Given the description of an element on the screen output the (x, y) to click on. 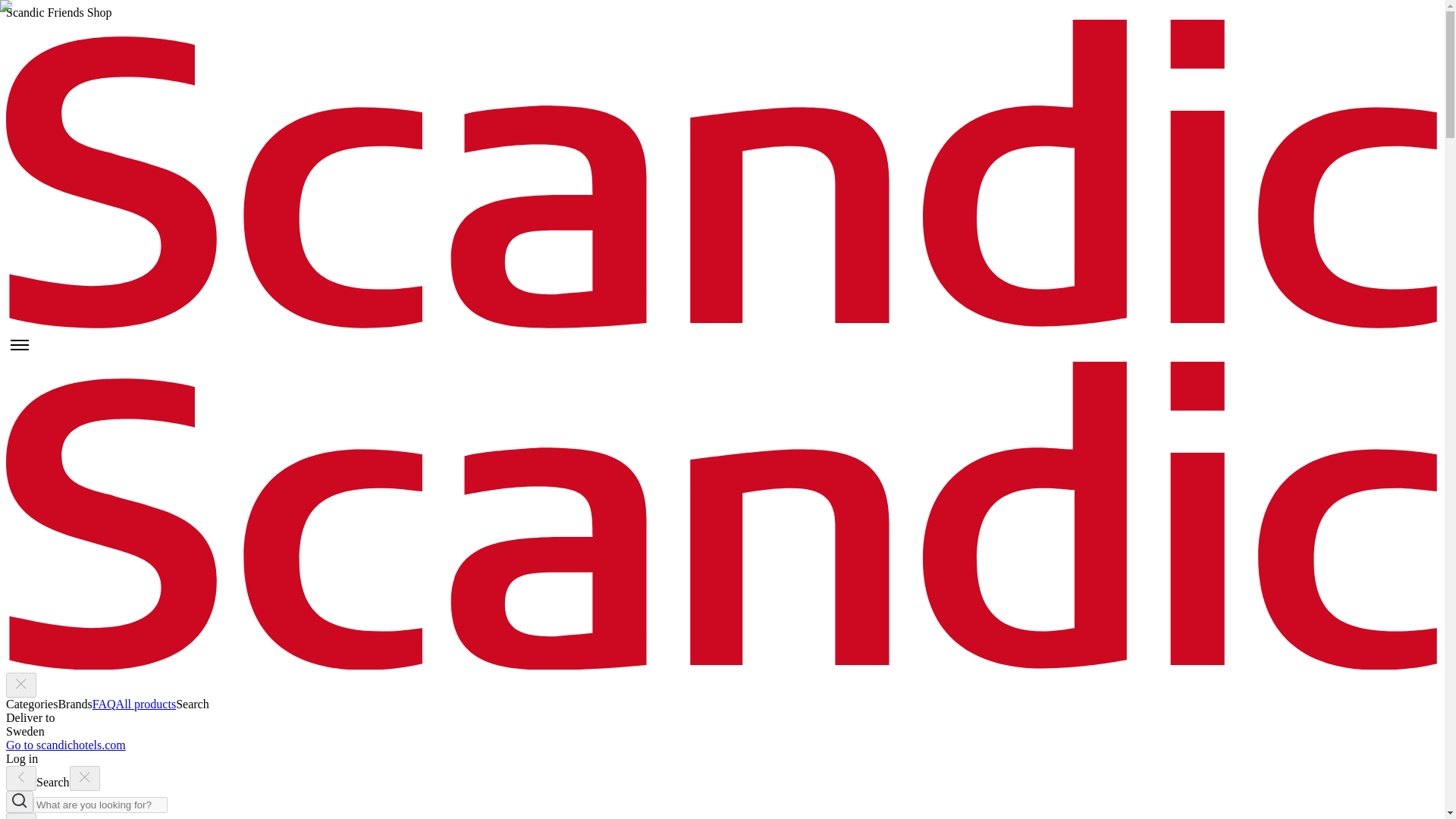
All products (146, 703)
FAQ (104, 703)
All products (146, 703)
Go to scandichotels.com (65, 744)
